Given the description of an element on the screen output the (x, y) to click on. 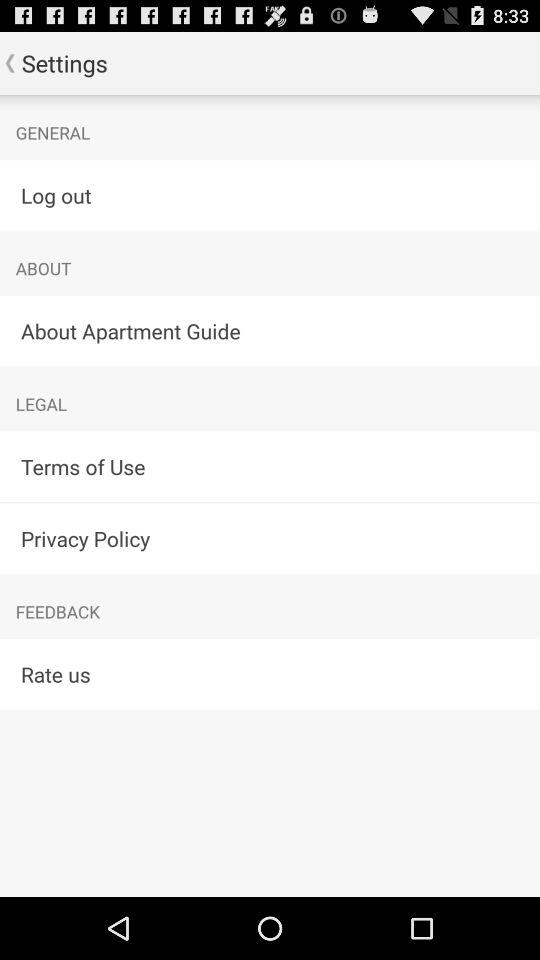
open the item below about app (270, 330)
